Given the description of an element on the screen output the (x, y) to click on. 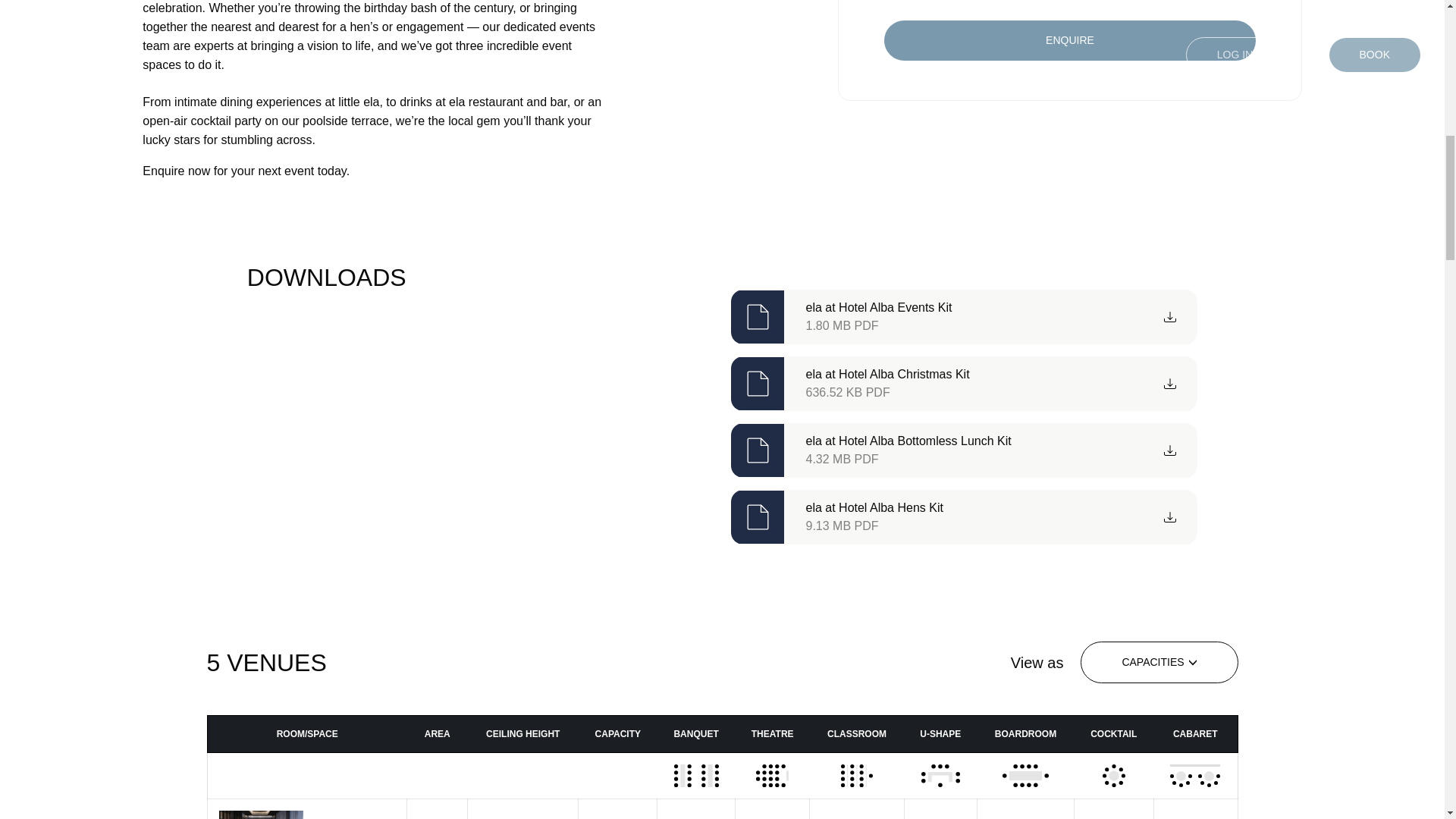
ENQUIRE (963, 516)
little ela Private Dining (1069, 40)
